Given the description of an element on the screen output the (x, y) to click on. 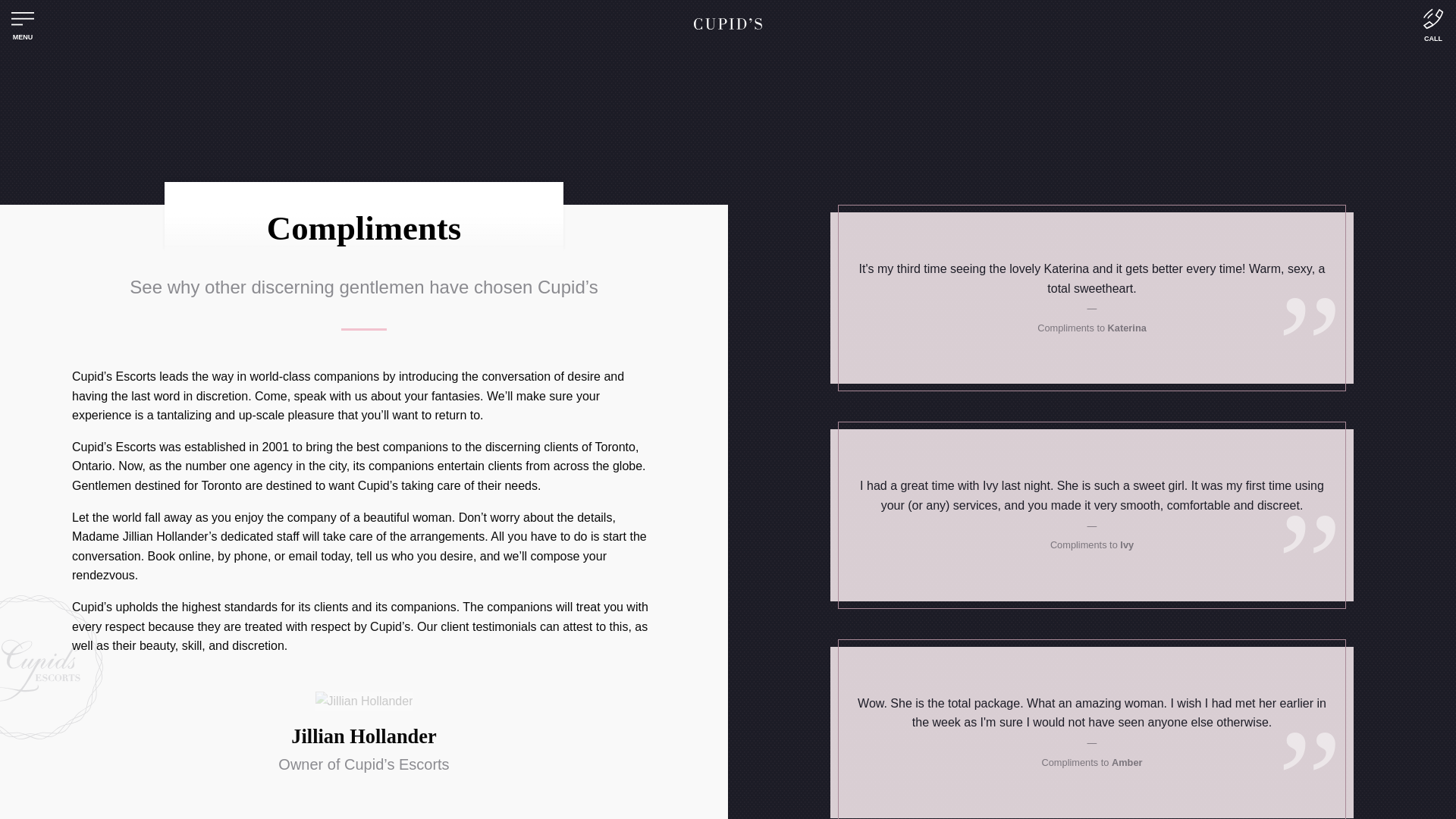
Amber (1127, 762)
Ivy (1126, 544)
Best Toronto Escorts Agency Cupid's (727, 24)
Katerina (1127, 327)
Best Toronto Escorts Agency Cupid's (727, 23)
